Given the description of an element on the screen output the (x, y) to click on. 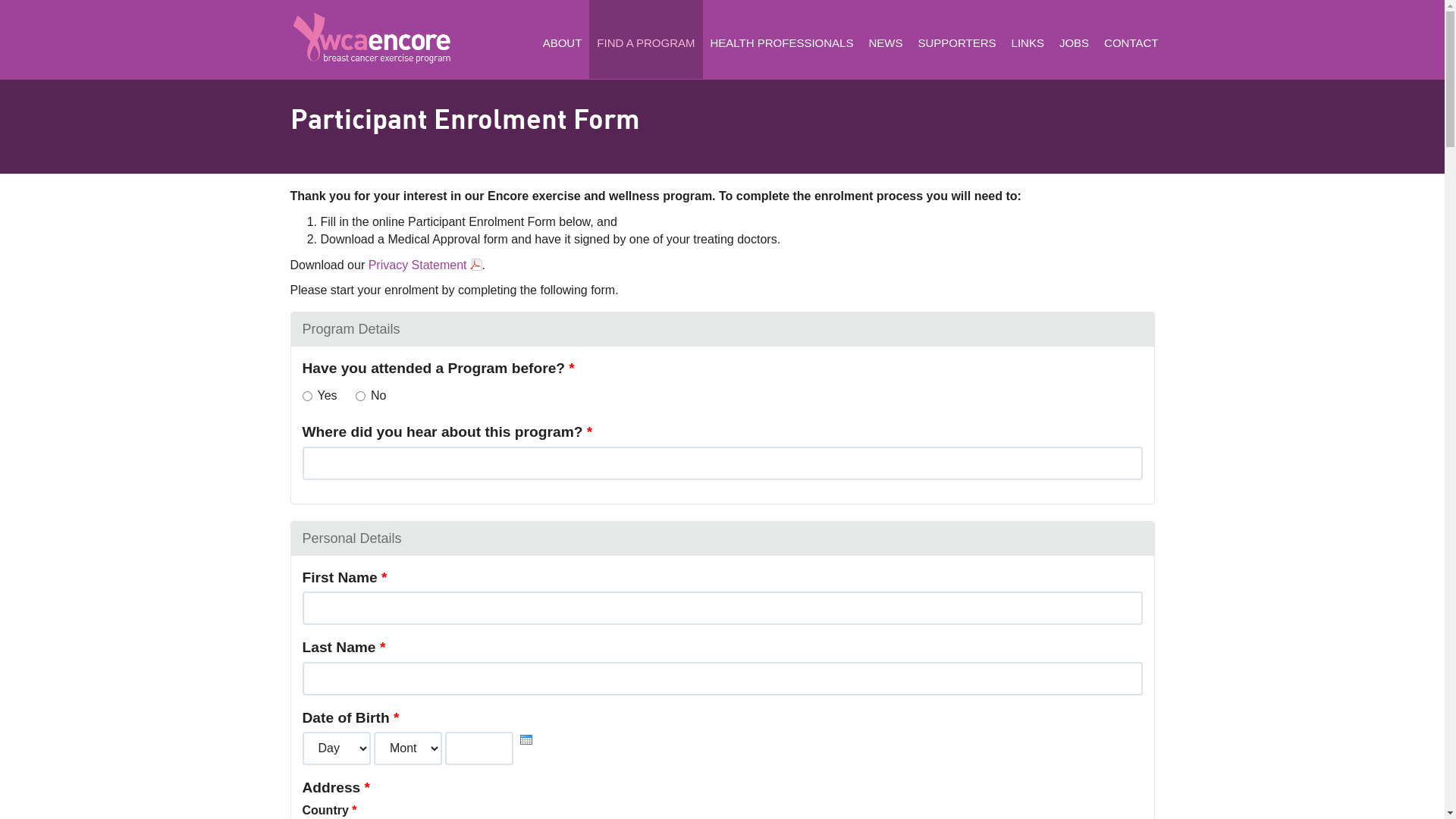
Open popup calendar Element type: hover (526, 739)
FIND A PROGRAM Element type: text (645, 39)
ABOUT Element type: text (562, 39)
Home Element type: hover (373, 37)
JOBS Element type: text (1073, 39)
Privacy Statement Element type: text (425, 264)
NEWS Element type: text (885, 39)
HEALTH PROFESSIONALS Element type: text (781, 39)
CONTACT Element type: text (1130, 39)
LINKS Element type: text (1027, 39)
SUPPORTERS Element type: text (956, 39)
Skip to main content Element type: text (54, 75)
